Given the description of an element on the screen output the (x, y) to click on. 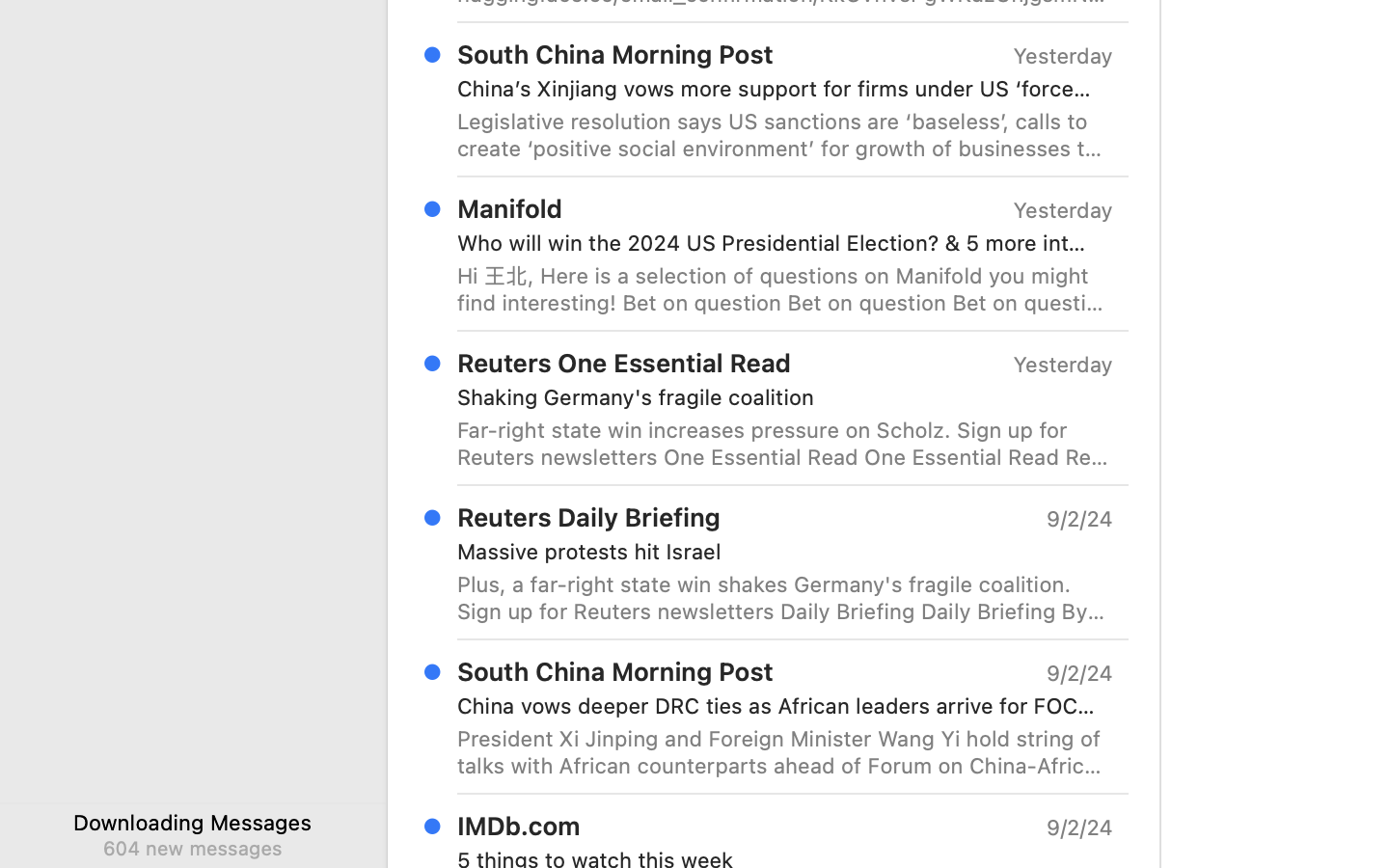
Reuters Daily Briefing Element type: AXStaticText (589, 516)
China vows deeper DRC ties as African leaders arrive for FOCAC meetings Element type: AXStaticText (777, 705)
Inbox Element type: AXStaticText (722, 732)
Hi 王北, Here is a selection of questions on Manifold you might find interesting! Bet on question Bet on question Bet on question Bet on question Bet on question Bet on question 🔎 Explore Manifold This e-mail has been sent to 王北, click here to unsubscribe from this type of notification. Element type: AXStaticText (784, 289)
China’s Xinjiang vows more support for firms under US ‘forced labour’ sanctions Element type: AXStaticText (777, 88)
